Given the description of an element on the screen output the (x, y) to click on. 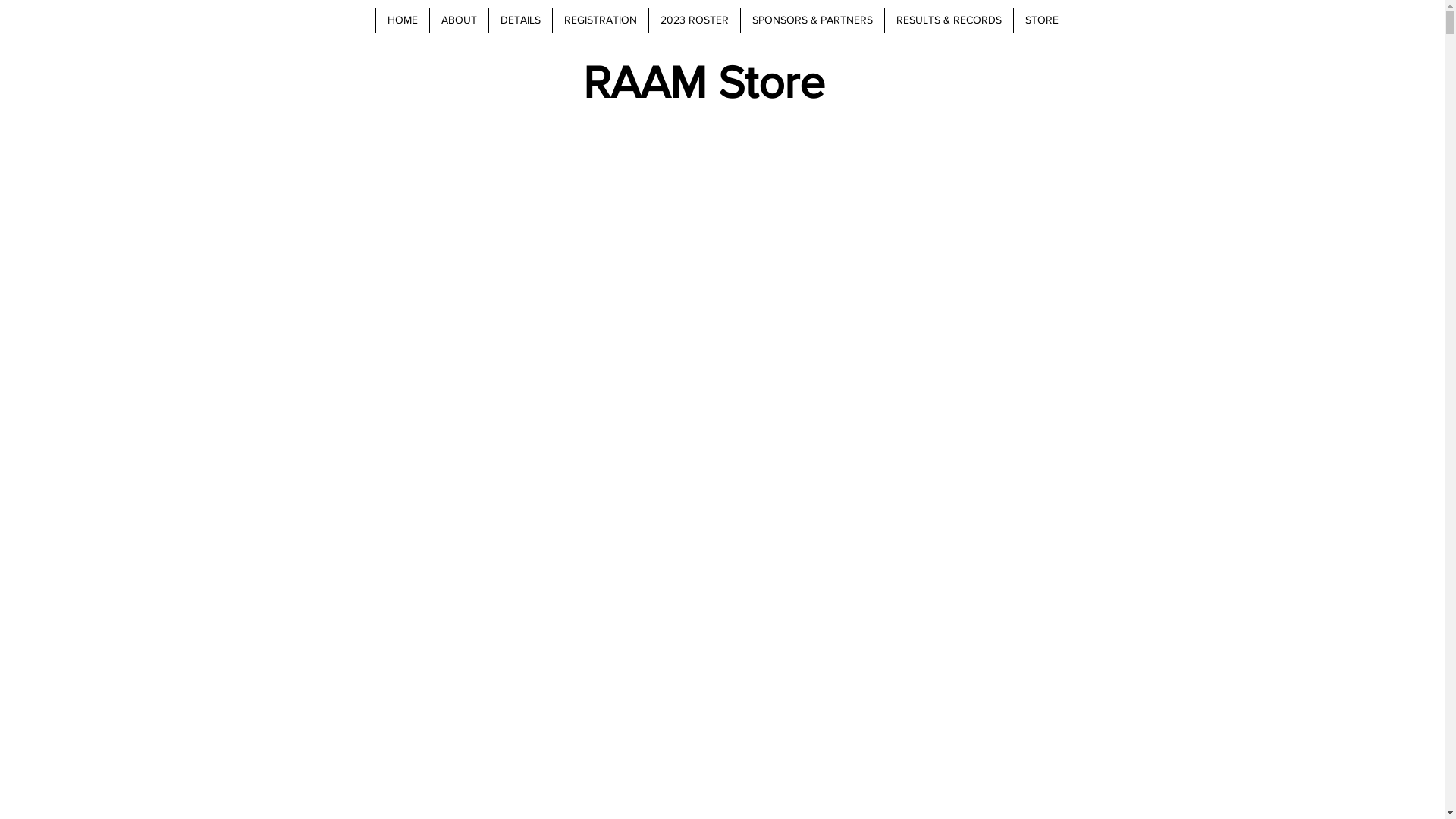
REGISTRATION Element type: text (600, 19)
RESULTS & RECORDS Element type: text (948, 19)
SPONSORS & PARTNERS Element type: text (812, 19)
STORE Element type: text (1041, 19)
HOME Element type: text (401, 19)
ABOUT Element type: text (458, 19)
